Given the description of an element on the screen output the (x, y) to click on. 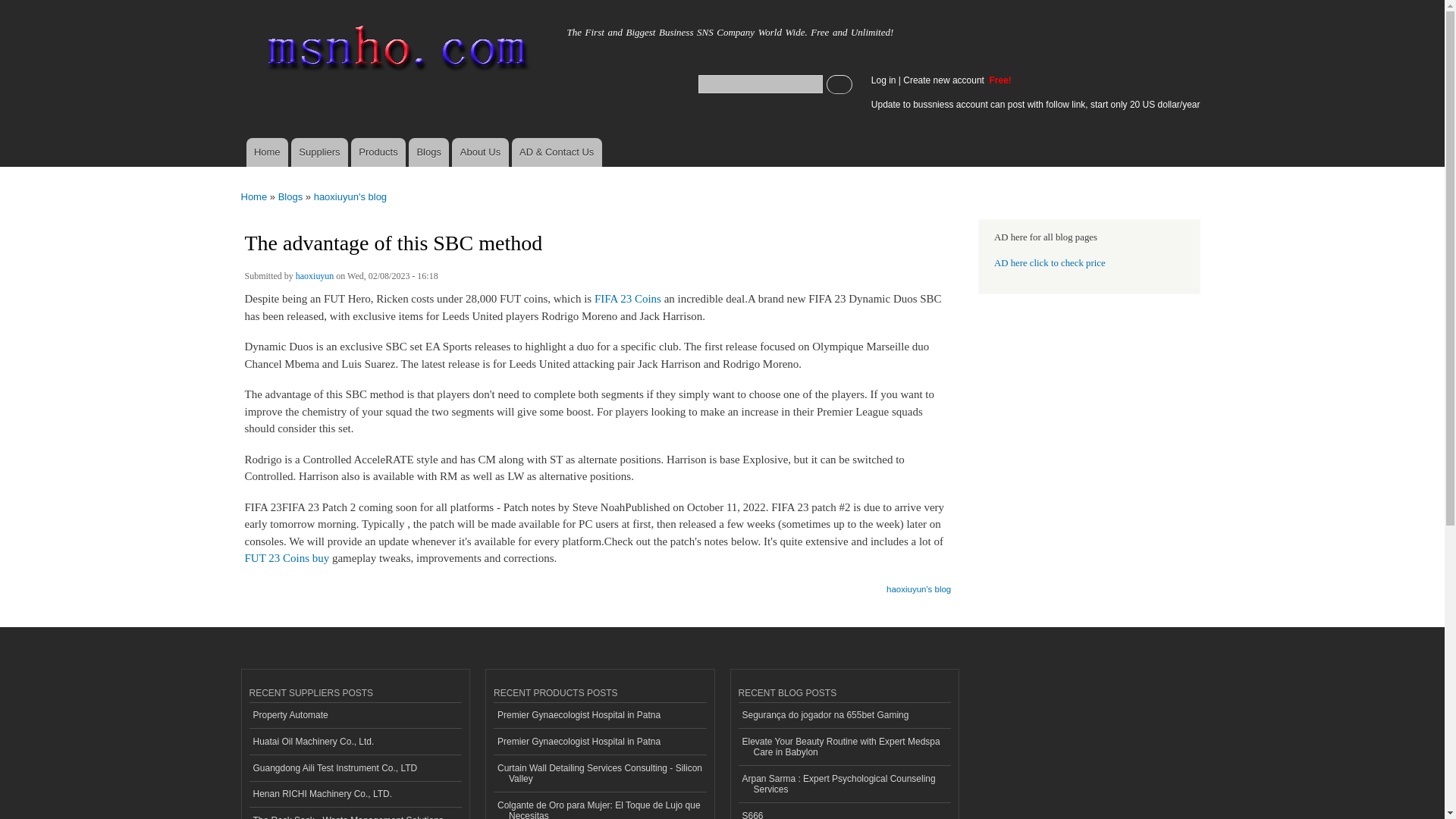
Property Automate (354, 715)
FUT 23 Coins buy (286, 558)
Log in (883, 79)
Read haoxiuyun's latest blog entries. (918, 583)
Premier Gynaecologist Hospital in Patna (599, 741)
haoxiuyun's blog (350, 196)
Products,if need post product, contact to our AD department (378, 152)
Blogs for suppliers and buyers (428, 152)
Skip to main content (690, 1)
